Given the description of an element on the screen output the (x, y) to click on. 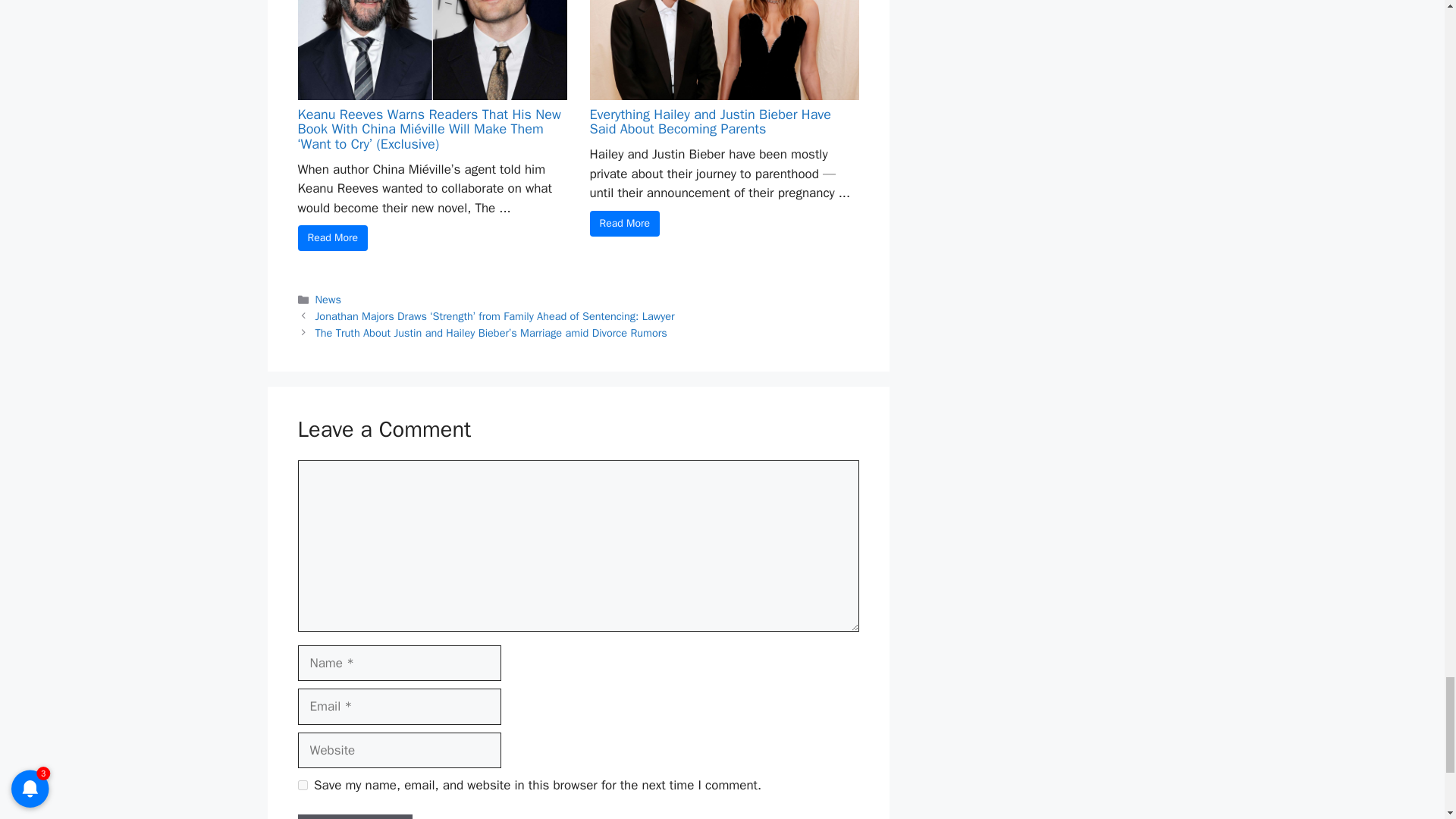
yes (302, 785)
Post Comment (354, 816)
